Given the description of an element on the screen output the (x, y) to click on. 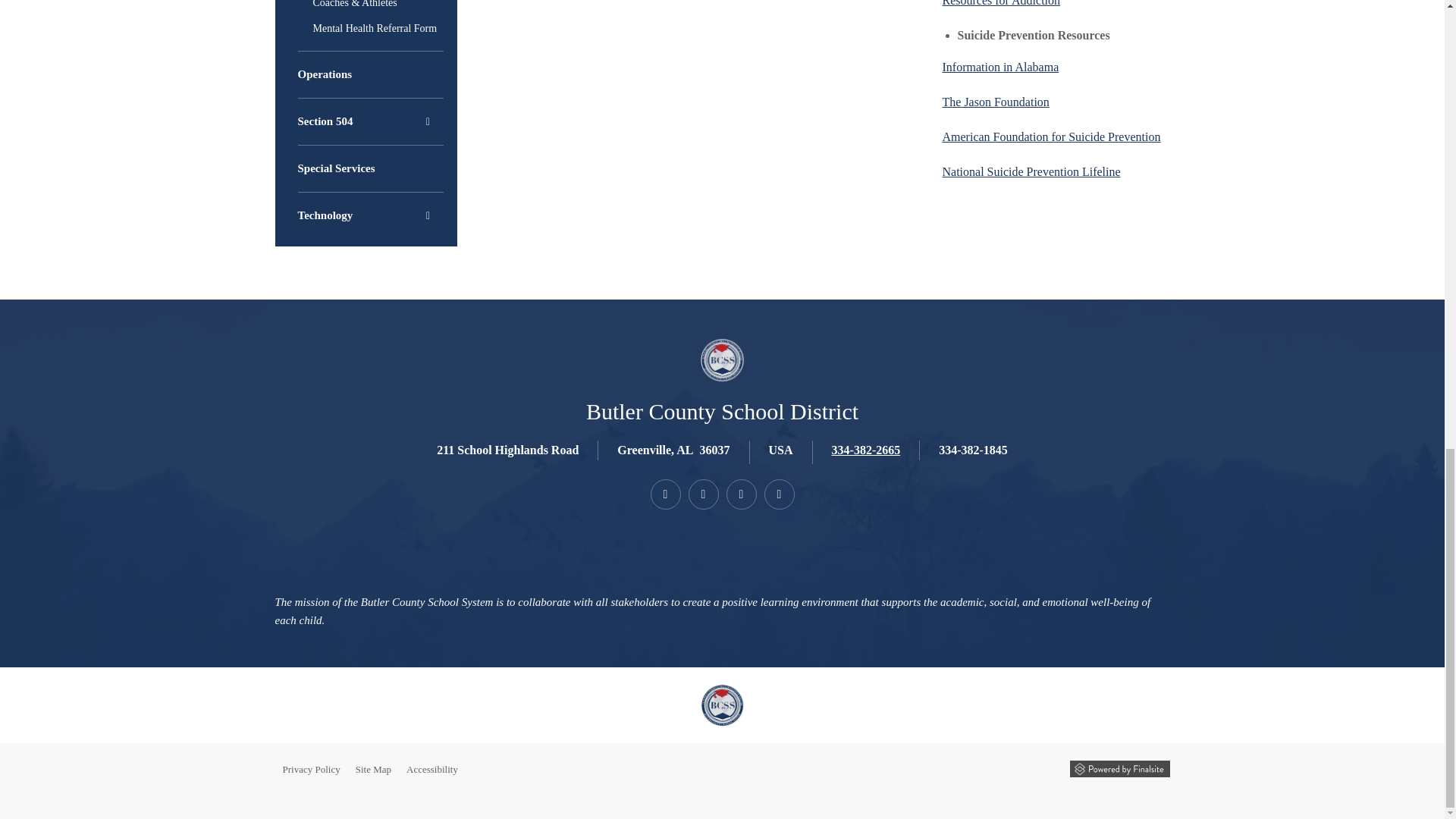
Powered by Finalsite opens in a new window (1118, 768)
